Given the description of an element on the screen output the (x, y) to click on. 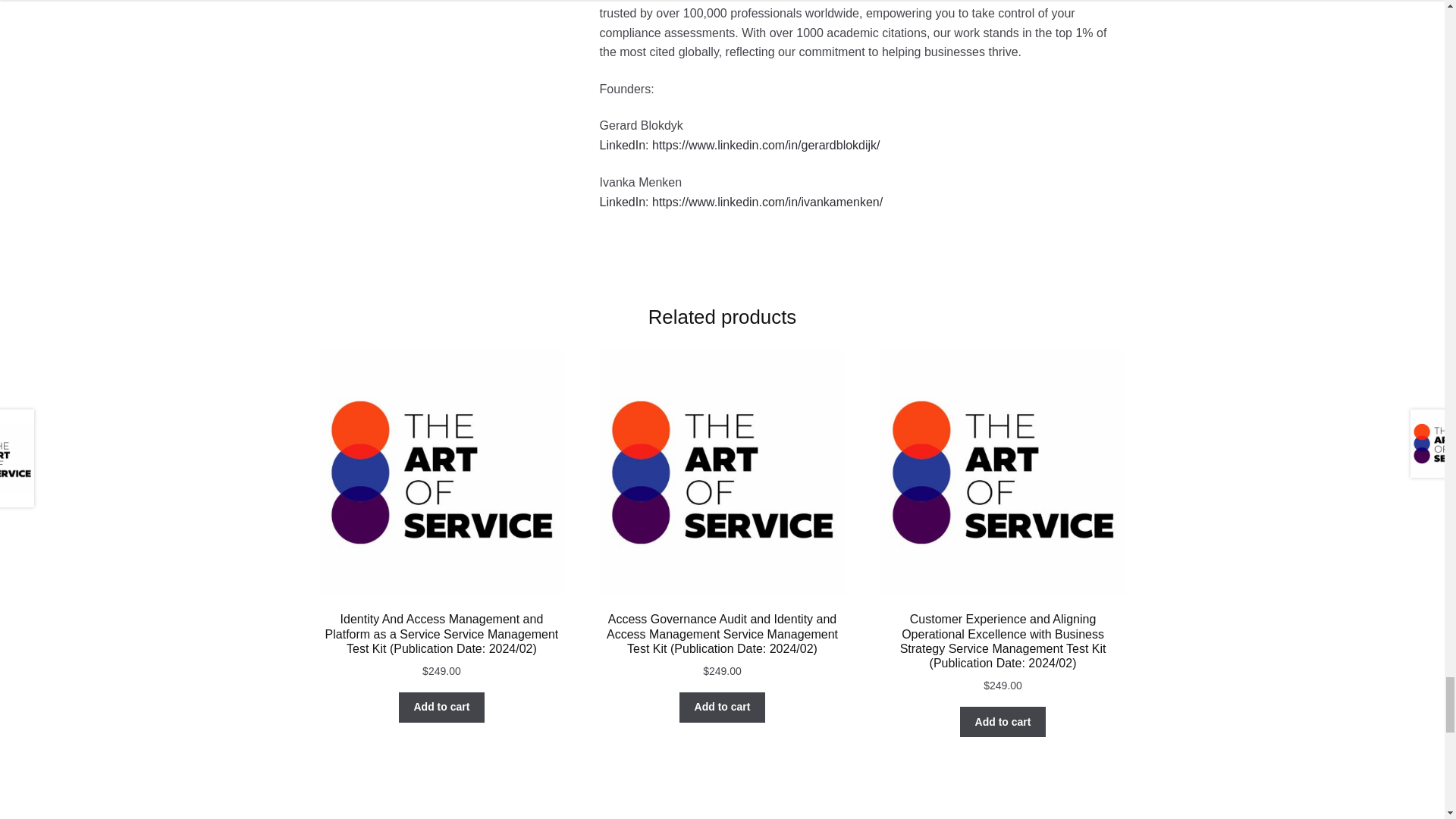
Add to cart (1002, 721)
Add to cart (722, 707)
Add to cart (441, 707)
